Given the description of an element on the screen output the (x, y) to click on. 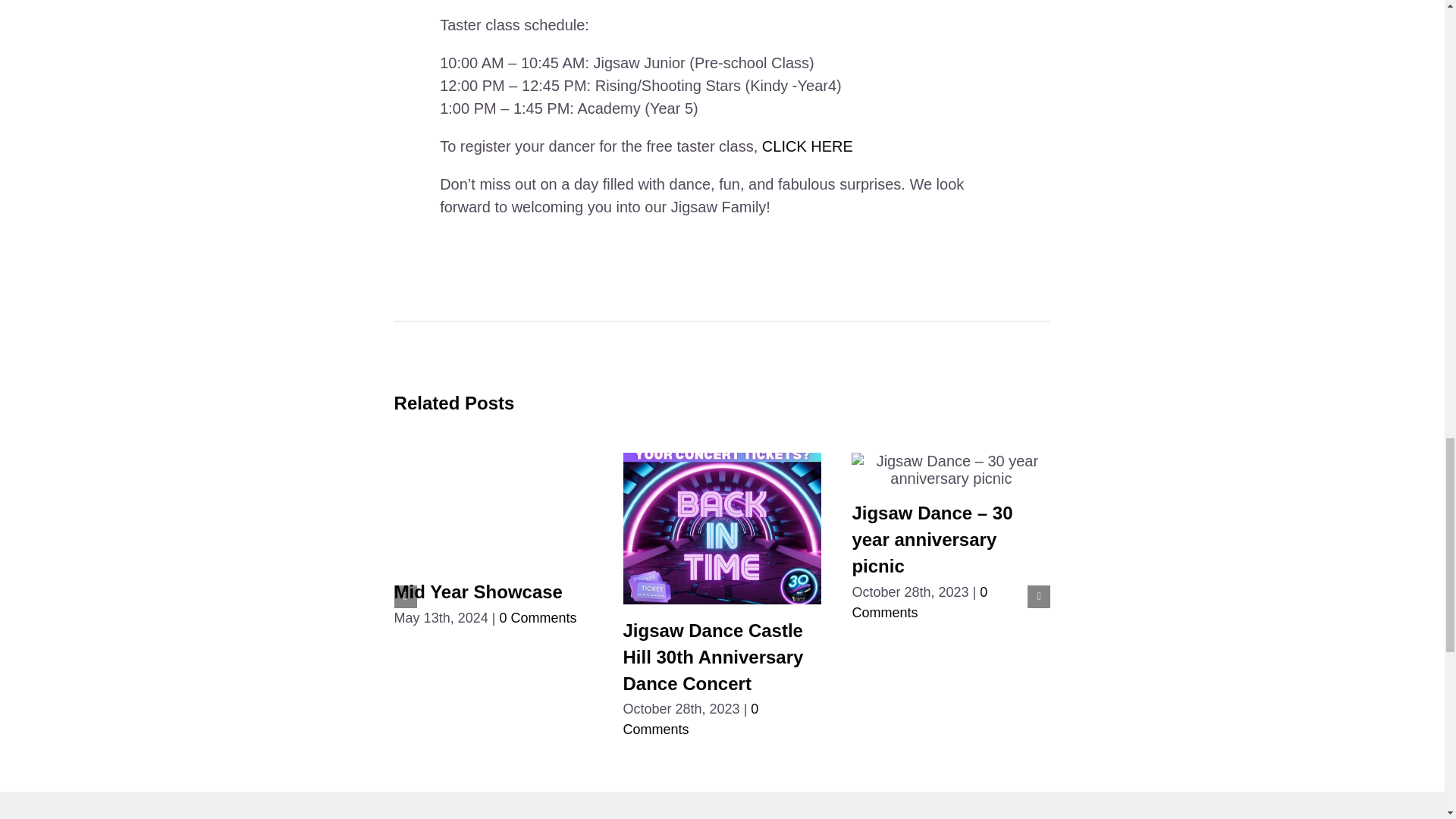
Jigsaw Dance Castle Hill 30th Anniversary Dance Concert (713, 656)
CLICK HERE  (809, 146)
Mid Year Showcase (478, 591)
